Given the description of an element on the screen output the (x, y) to click on. 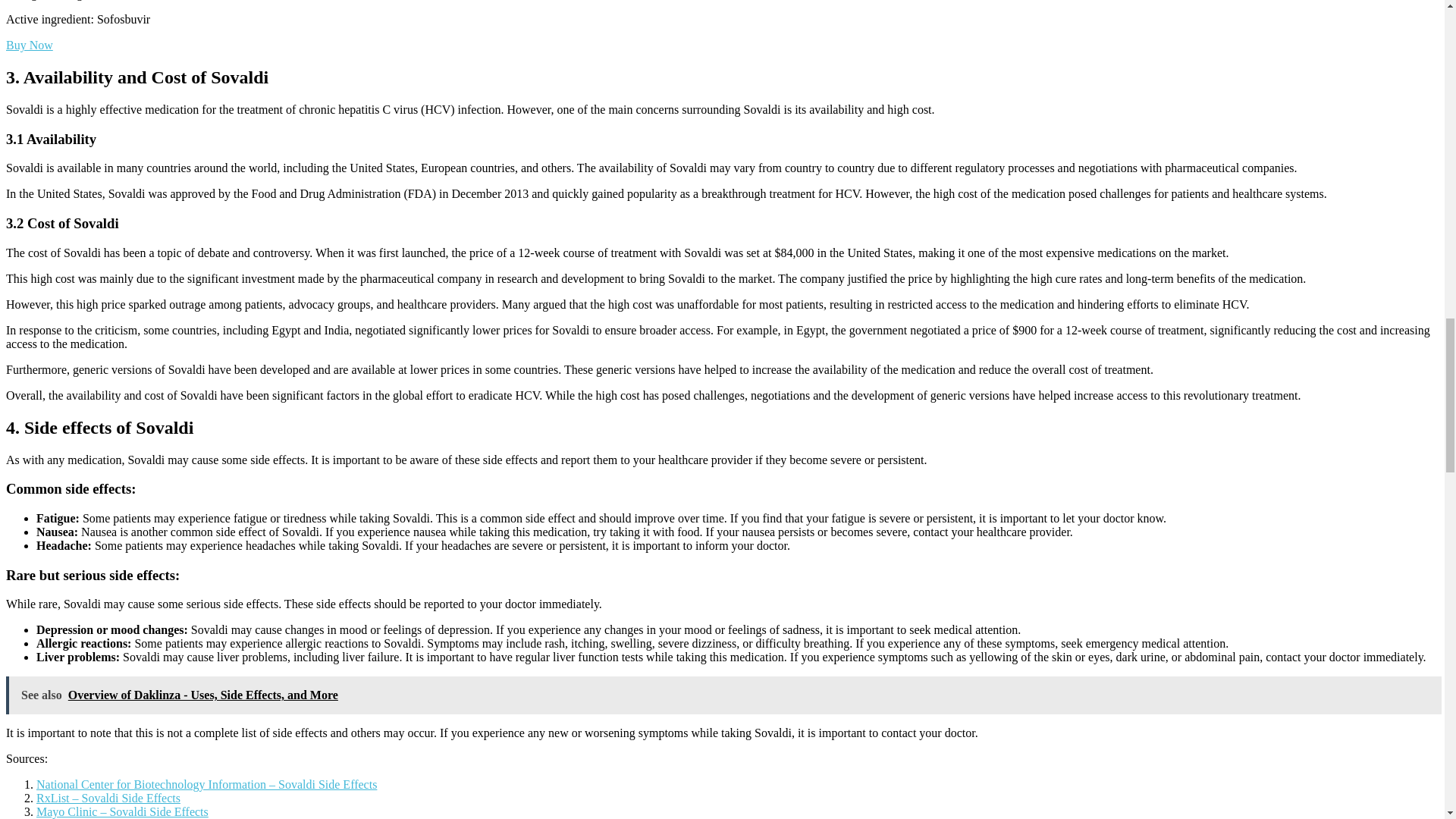
Buy Now (28, 44)
